Given the description of an element on the screen output the (x, y) to click on. 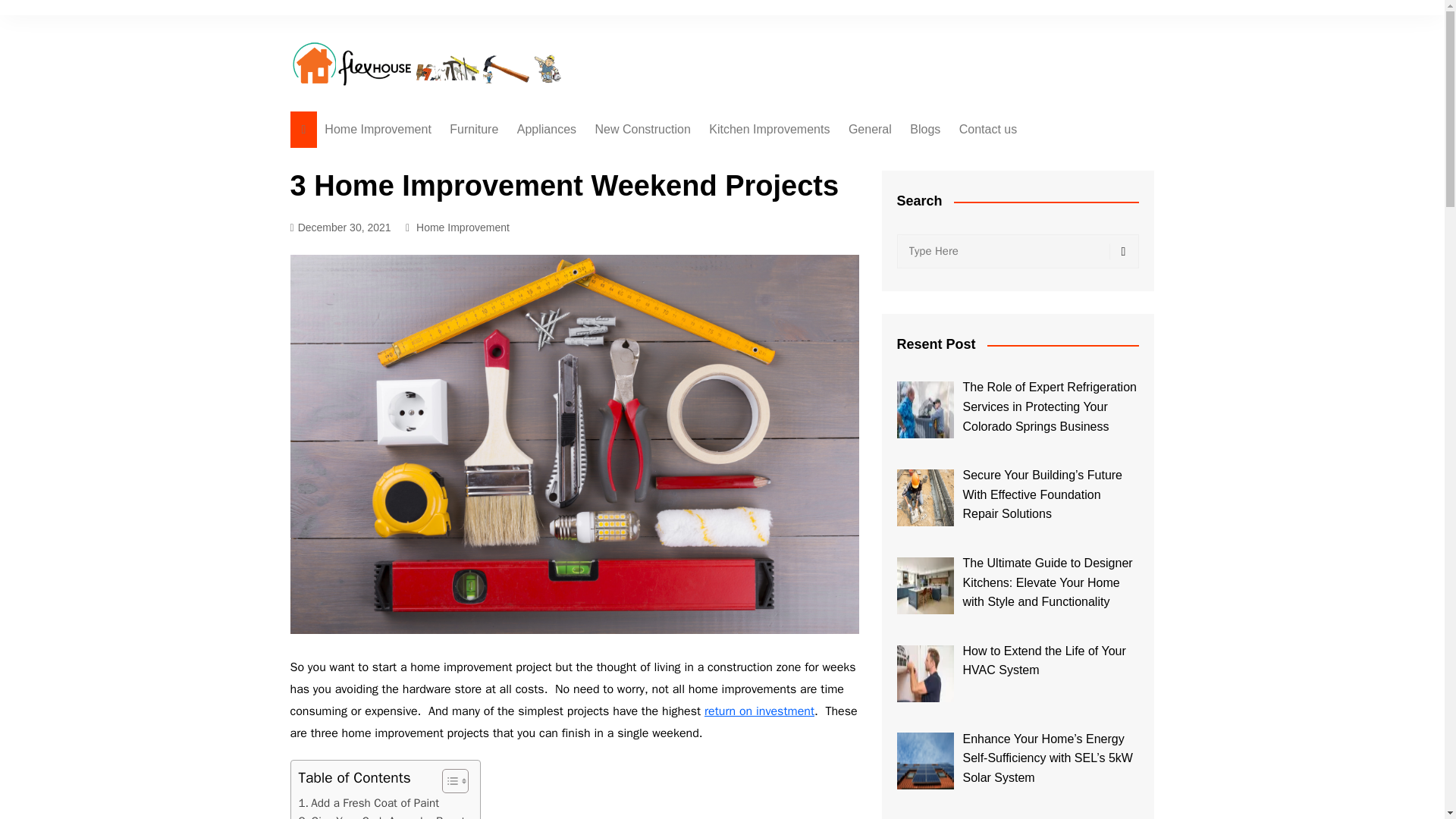
General (870, 129)
Furniture (473, 129)
Add a Fresh Coat of Paint (368, 802)
How to Extend the Life of Your HVAC System (924, 673)
Home Inspections (671, 160)
Appliances (546, 129)
Contact us (988, 129)
Give Your Curb Appeal a Boost (381, 815)
Interior Design and Decorating (525, 166)
DIY (671, 348)
